Given the description of an element on the screen output the (x, y) to click on. 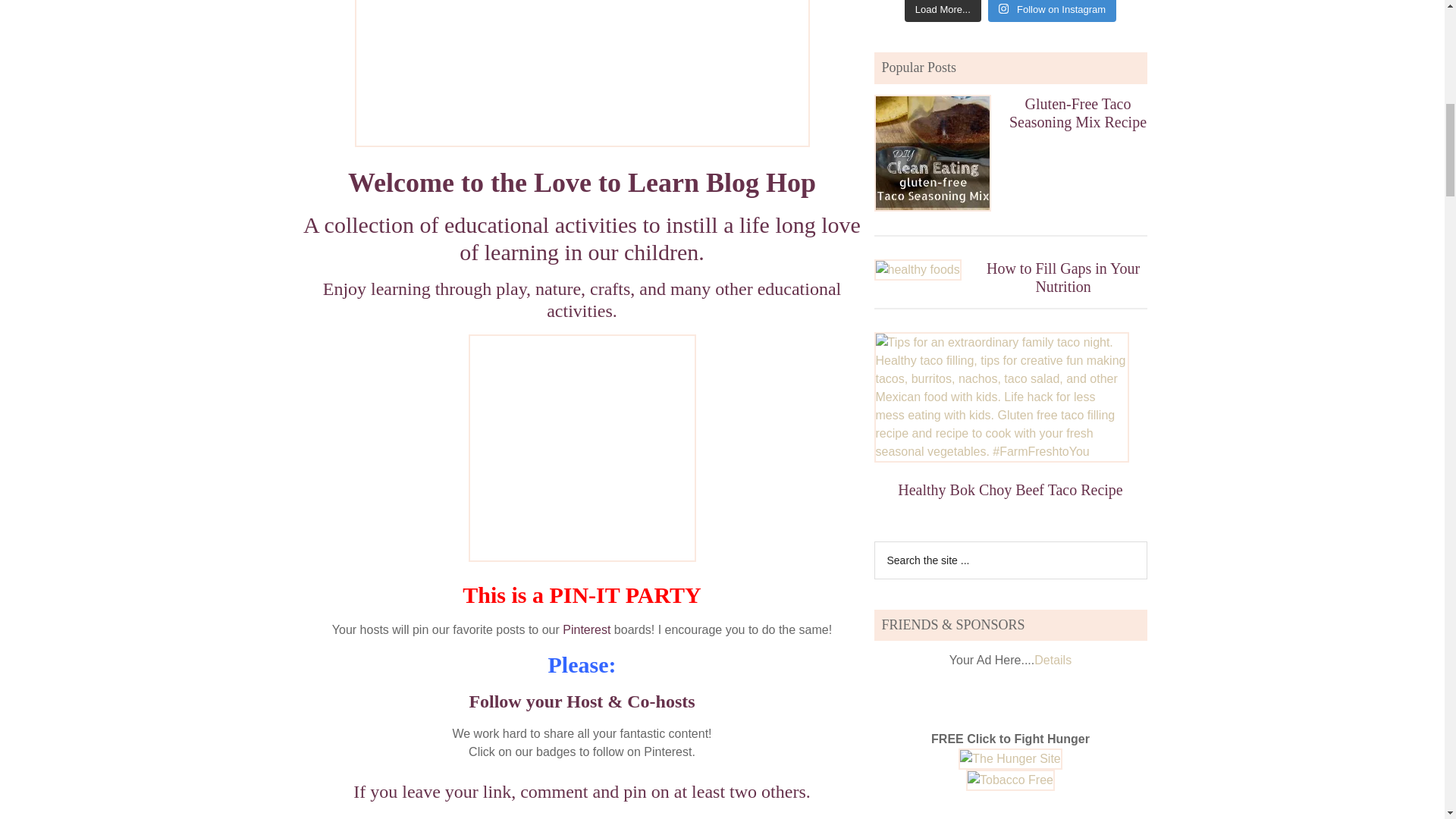
Pinterest (586, 629)
